Given the description of an element on the screen output the (x, y) to click on. 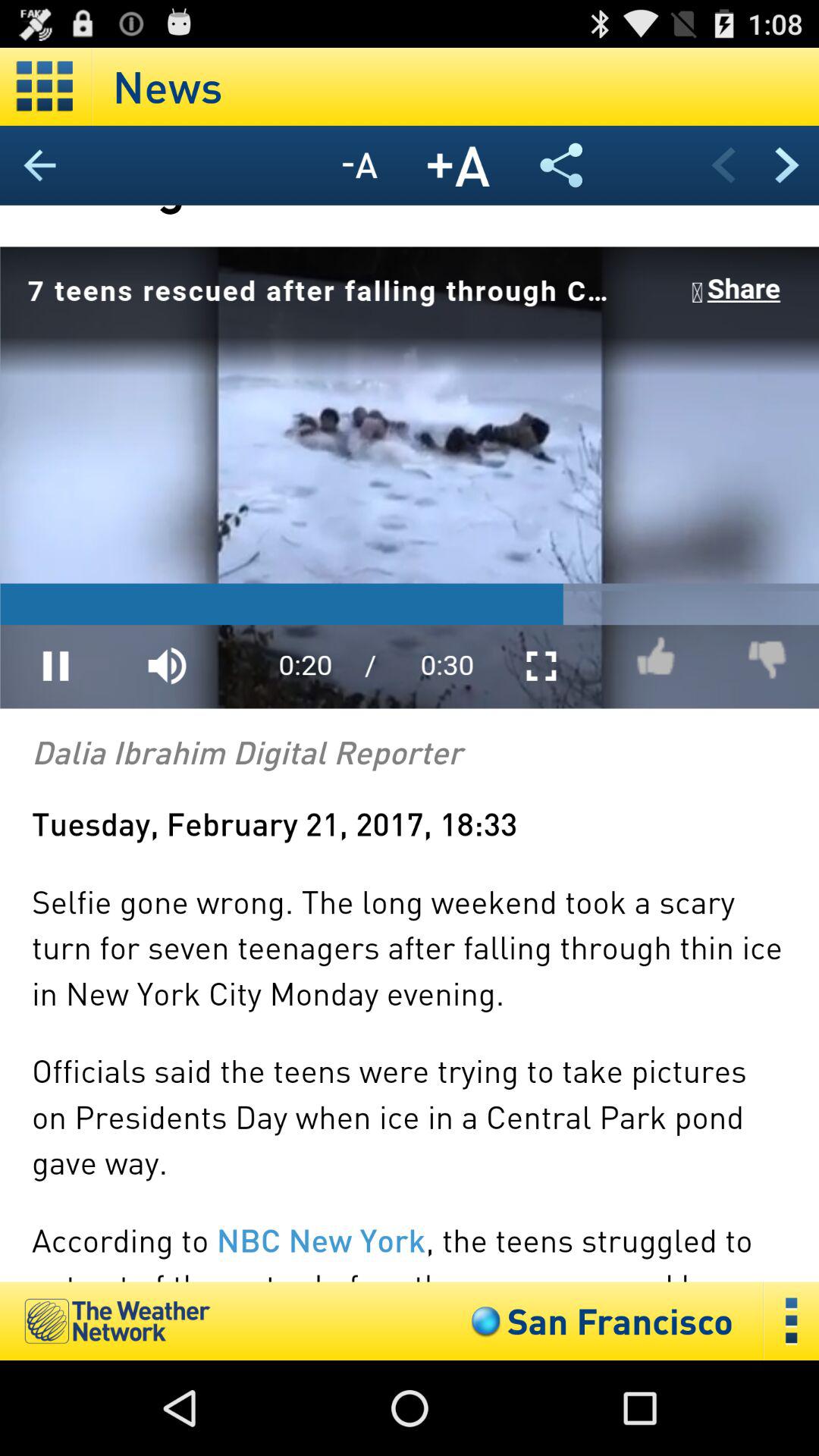
go to next (787, 165)
